Given the description of an element on the screen output the (x, y) to click on. 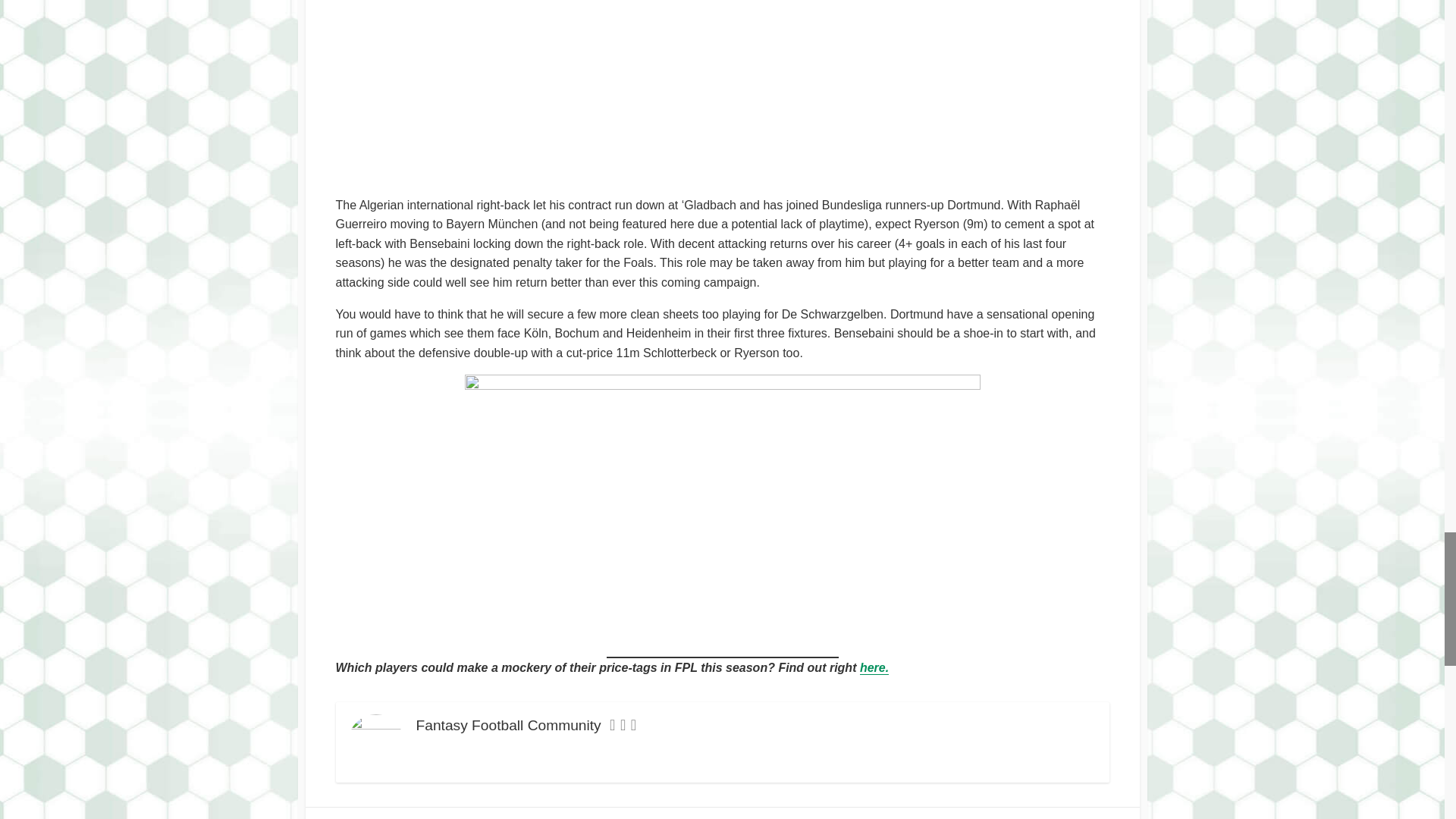
here. (874, 667)
